Given the description of an element on the screen output the (x, y) to click on. 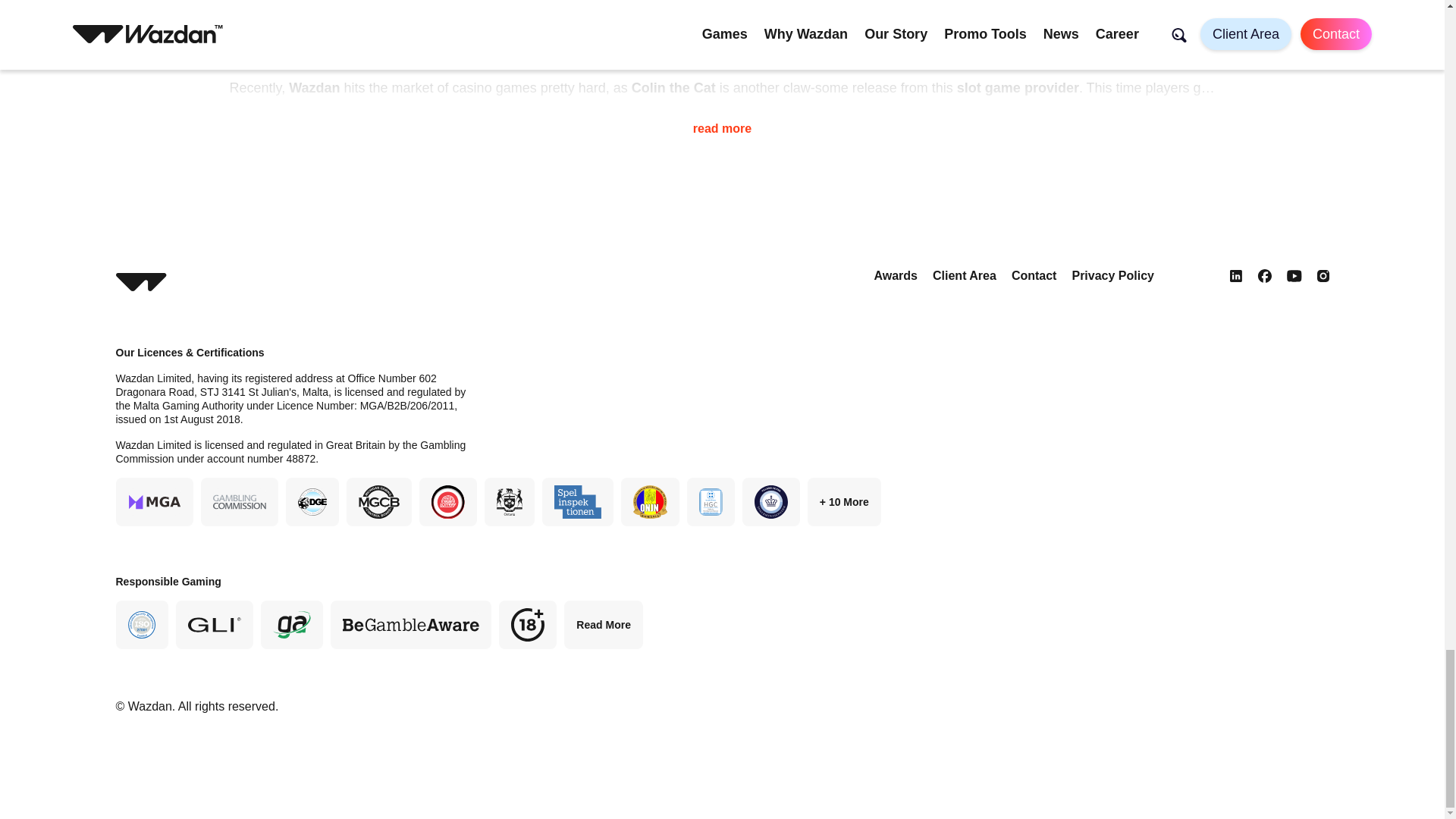
Client Area (964, 275)
Awards (895, 275)
Contact (1034, 275)
Privacy Policy (1112, 275)
read more (722, 117)
